Given the description of an element on the screen output the (x, y) to click on. 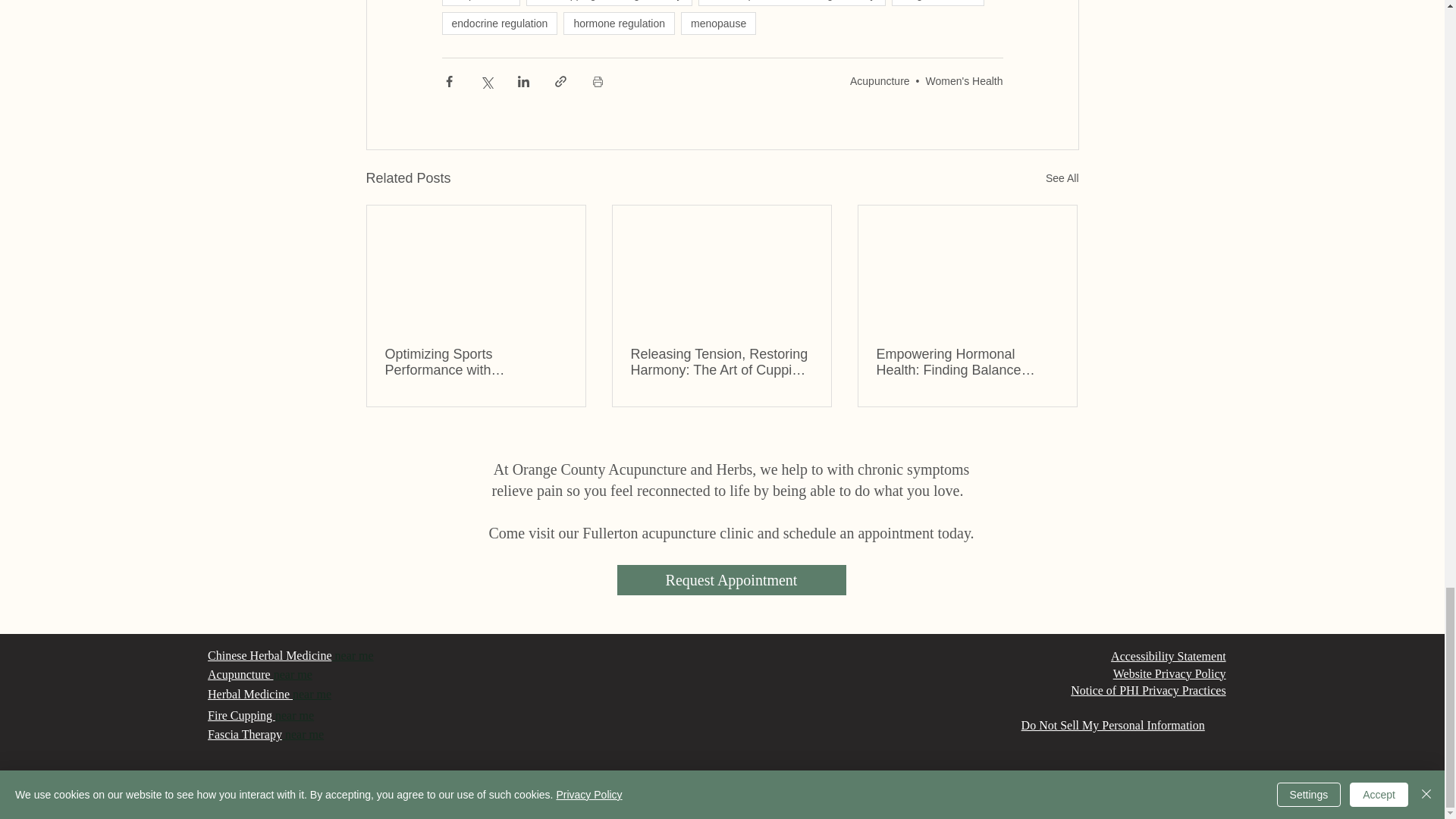
drug alternative (938, 2)
endocrine regulation (499, 23)
best cupping in Orange County (609, 2)
best acupuncture in Orange County (791, 2)
acupuncture (480, 2)
hormone regulation (619, 23)
menopause (718, 23)
